Given the description of an element on the screen output the (x, y) to click on. 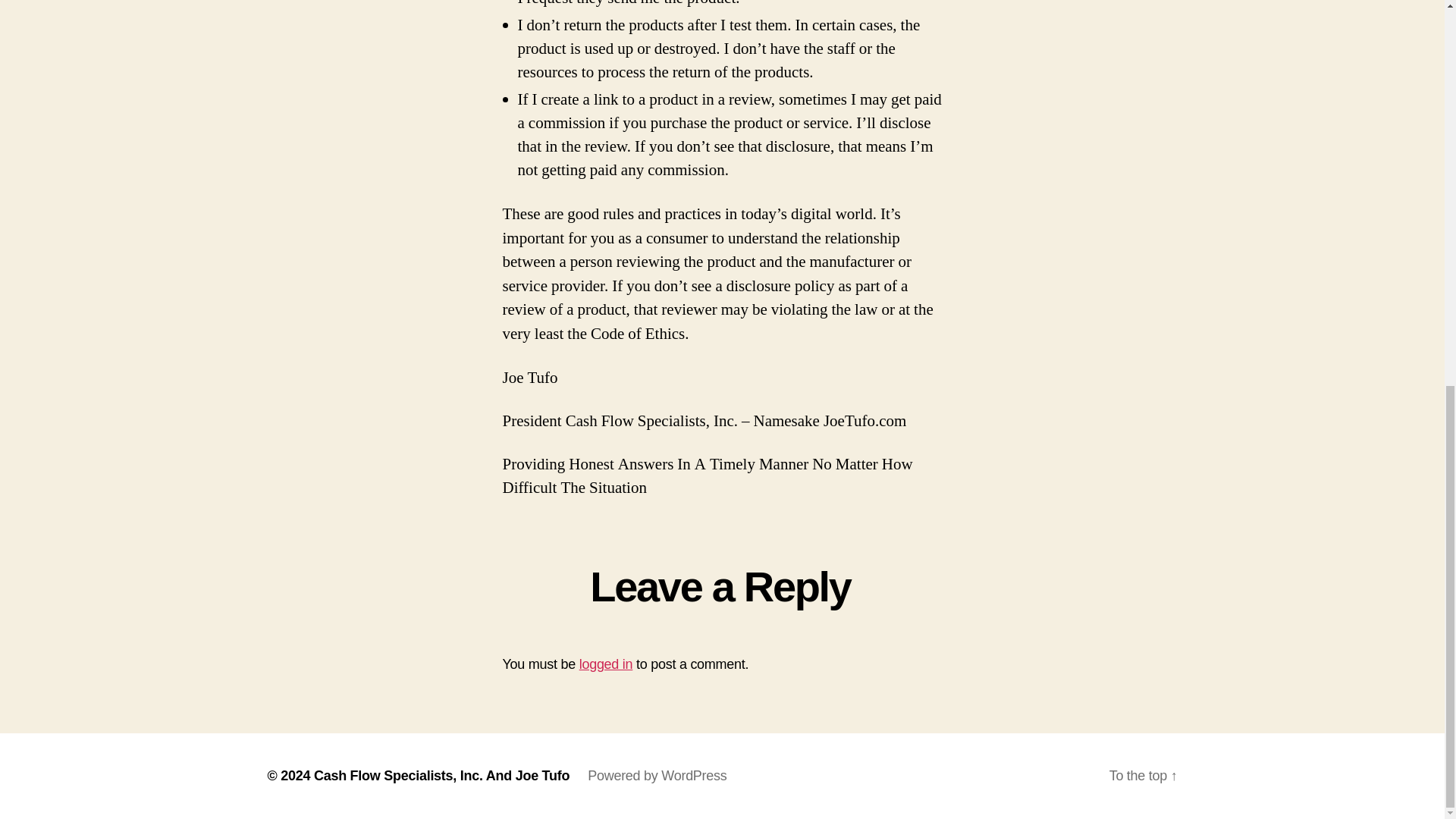
logged in (606, 663)
Cash Flow Specialists, Inc. And Joe Tufo (441, 775)
Powered by WordPress (657, 775)
